Given the description of an element on the screen output the (x, y) to click on. 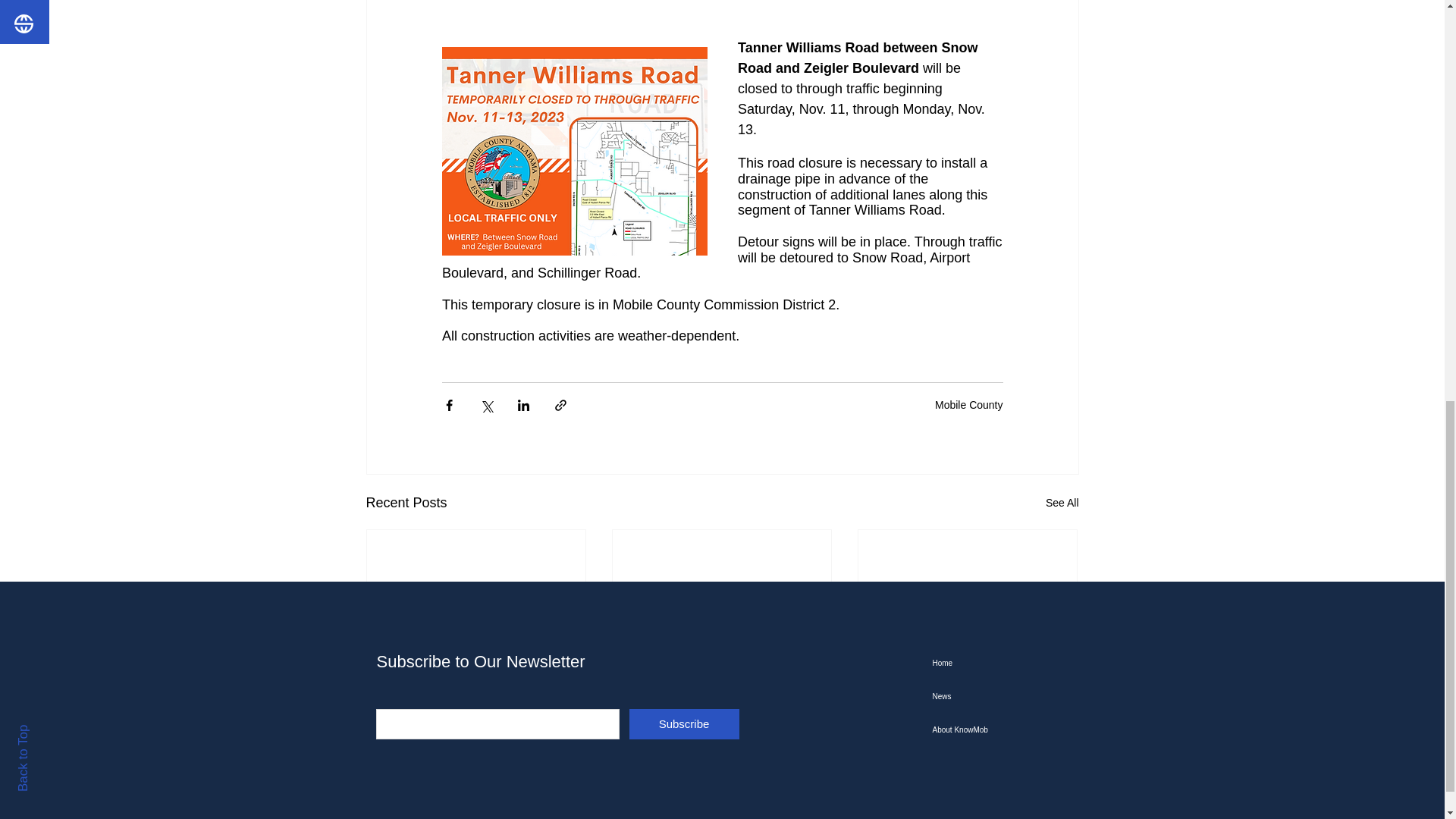
Home (1009, 663)
See All (1061, 503)
Subscribe (683, 724)
Sanderson Named Mobile County Engineer (476, 686)
Mobile County (968, 404)
News (1009, 696)
About KnowMob (1009, 729)
